Given the description of an element on the screen output the (x, y) to click on. 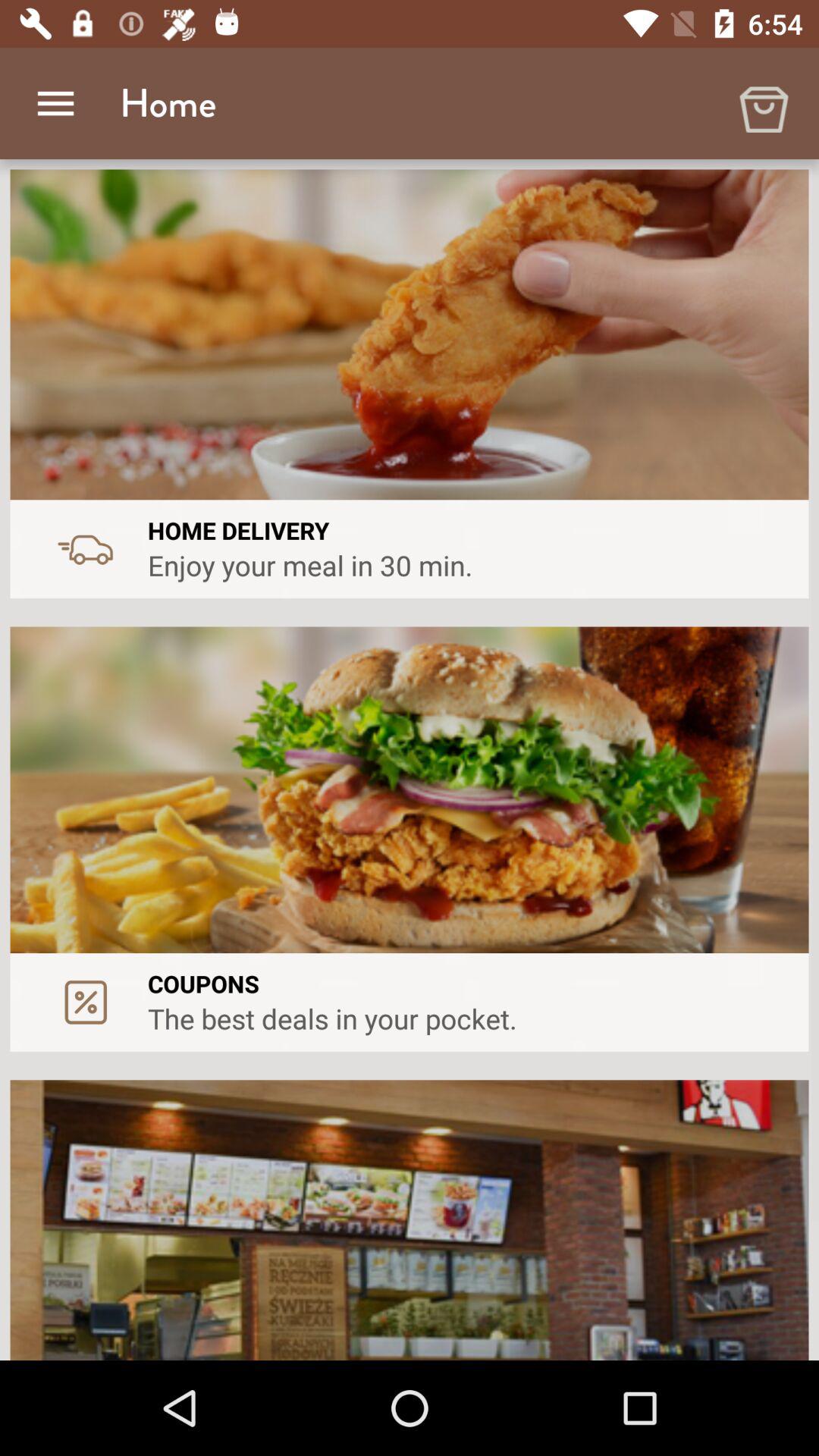
press the item at the top right corner (763, 103)
